Given the description of an element on the screen output the (x, y) to click on. 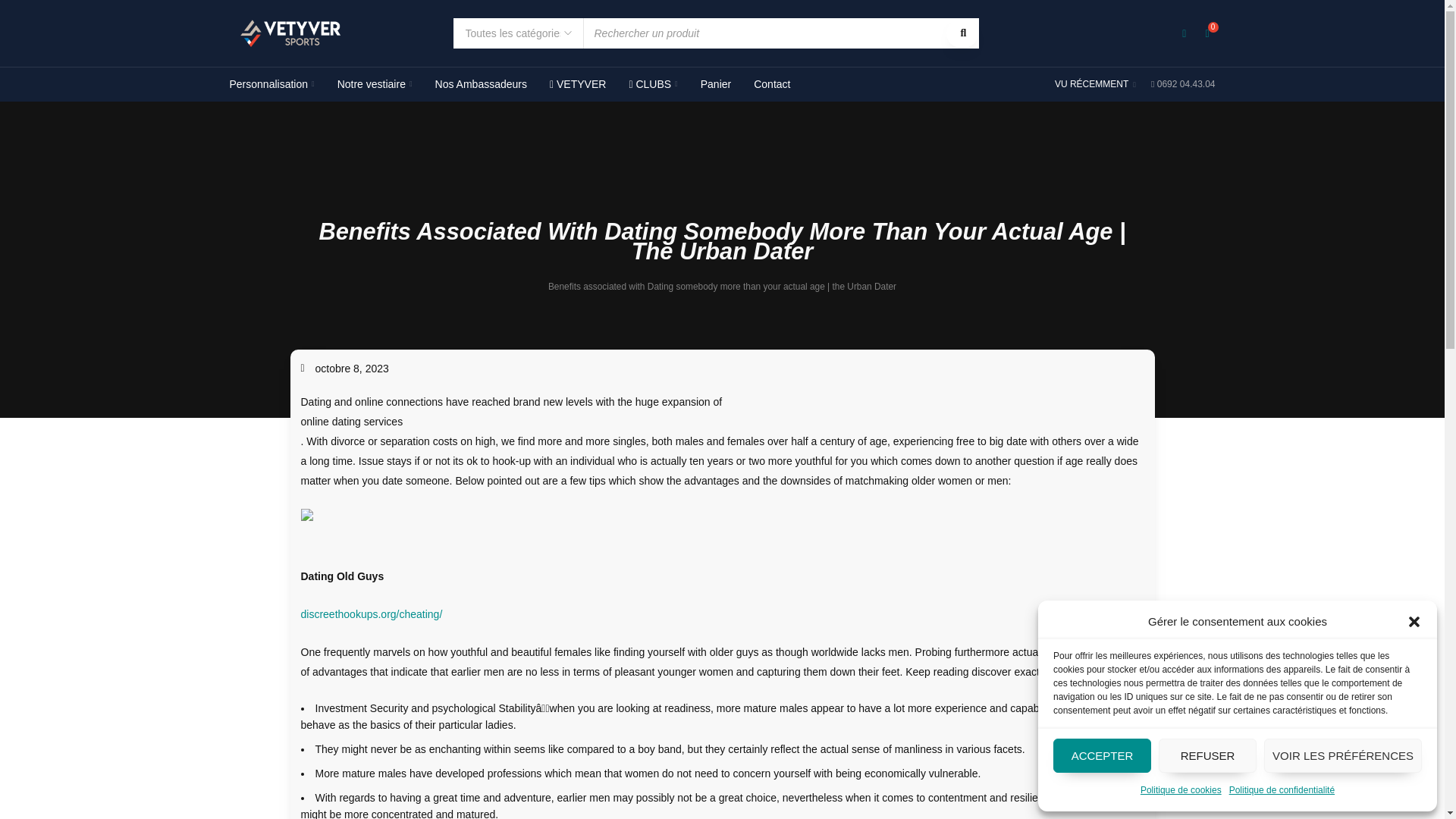
Vetyver Sports (289, 32)
Rechercher (962, 32)
Rechercher (962, 32)
Rechercher (962, 32)
ACCEPTER (1101, 755)
REFUSER (1207, 755)
Politique de cookies (1180, 790)
Personnalisation (271, 83)
